Given the description of an element on the screen output the (x, y) to click on. 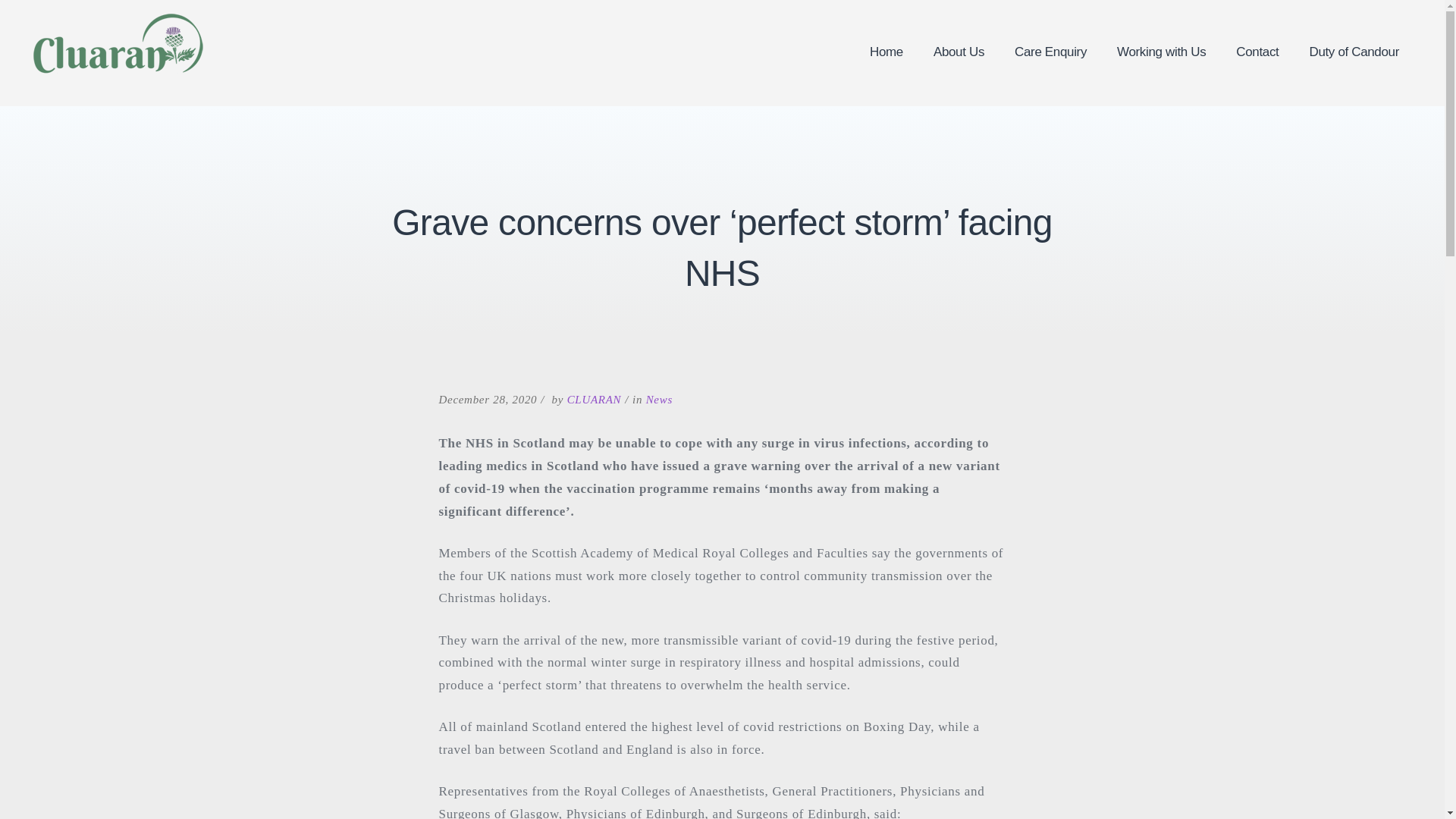
Home (886, 51)
Working with Us (1161, 51)
Duty of Candour (1353, 51)
Care Enquiry (1050, 51)
News (659, 399)
About Us (958, 51)
CLUARAN (594, 399)
Contact (1257, 51)
